Given the description of an element on the screen output the (x, y) to click on. 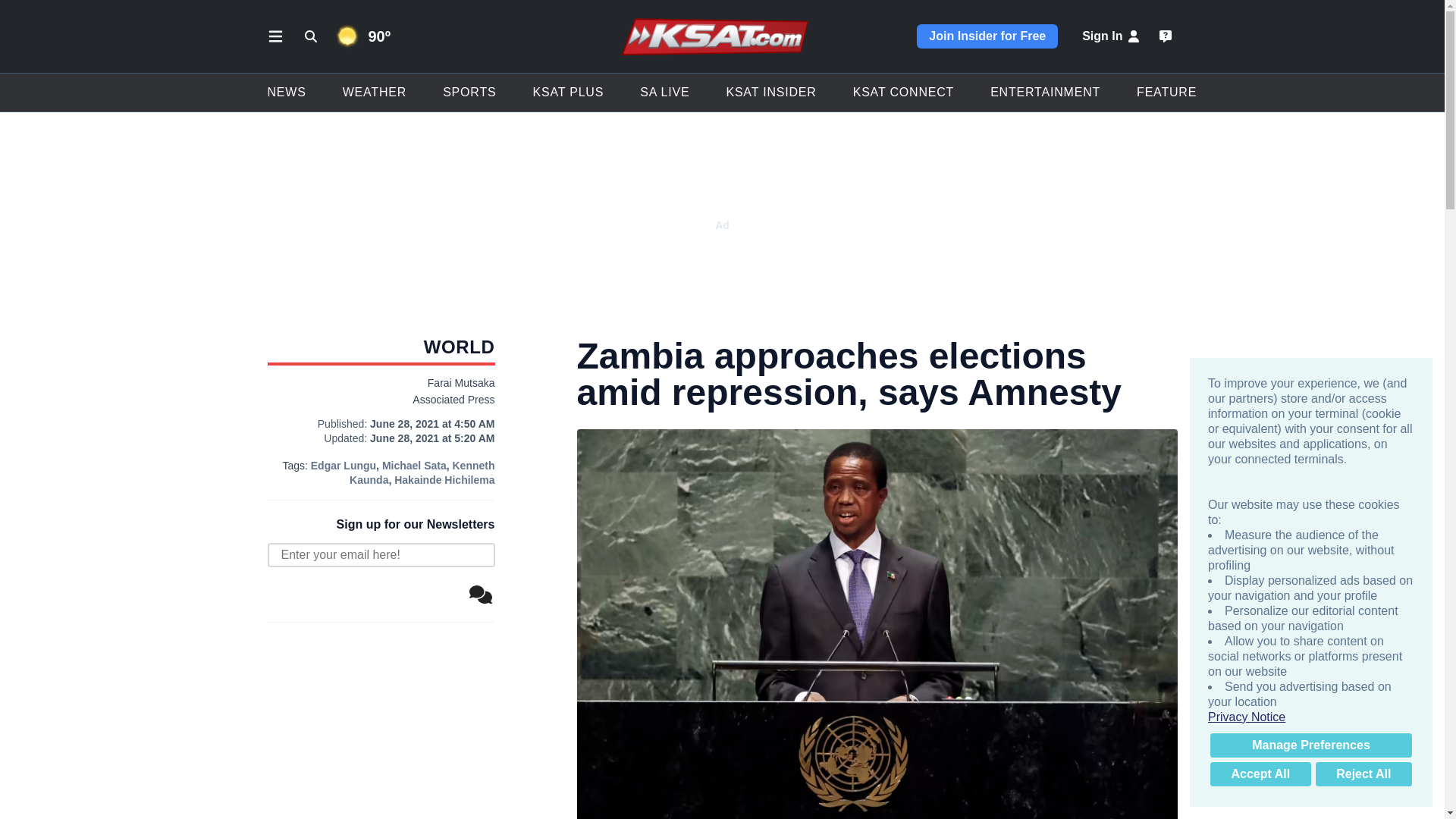
Join Insider for Free (987, 36)
Accept All (1260, 774)
Reject All (1363, 774)
Manage Preferences (1310, 745)
Sign In (1111, 36)
Privacy Notice (1310, 717)
